Given the description of an element on the screen output the (x, y) to click on. 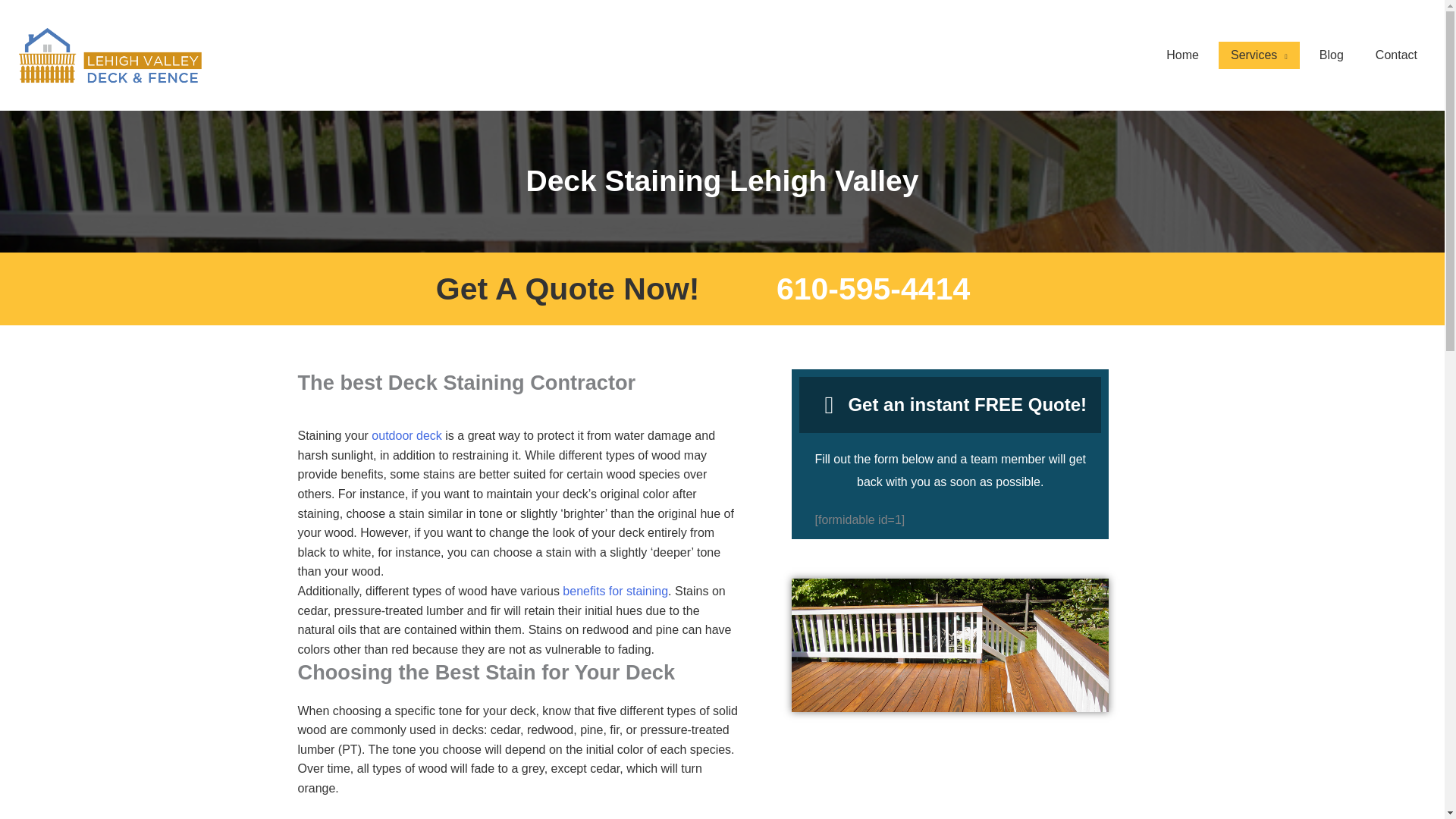
benefits for staining (615, 590)
outdoor deck (406, 435)
Services (1259, 54)
Blog (1331, 54)
Contact (1395, 54)
610-595-4414 (872, 288)
Home (1182, 54)
